Given the description of an element on the screen output the (x, y) to click on. 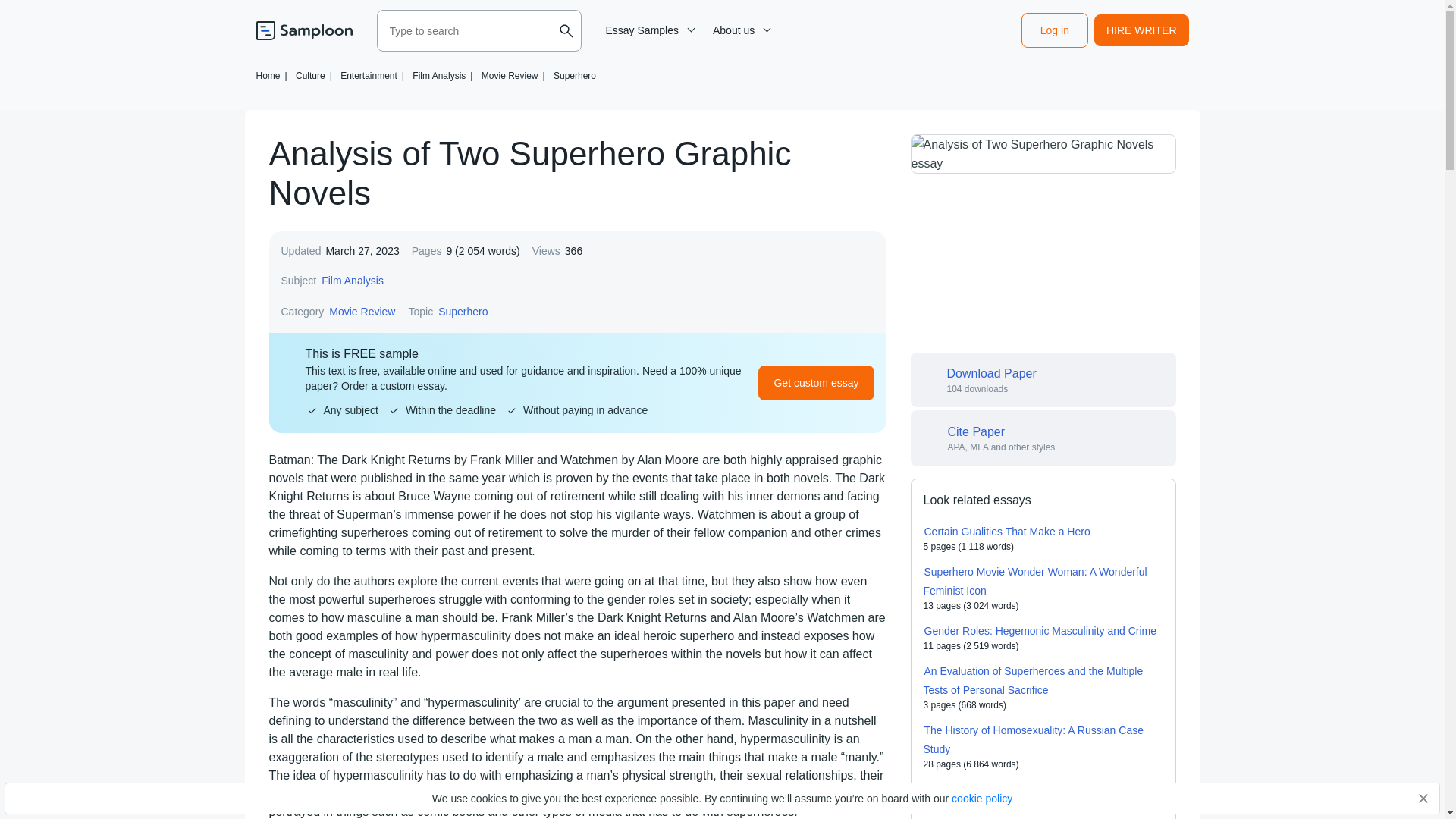
Analysis of Two Superhero Graphic Novels (1042, 153)
About us (739, 30)
Essay Samples (647, 30)
Superhero (462, 311)
Movie Review (362, 311)
Film Analysis (352, 280)
Superhero (574, 75)
